Given the description of an element on the screen output the (x, y) to click on. 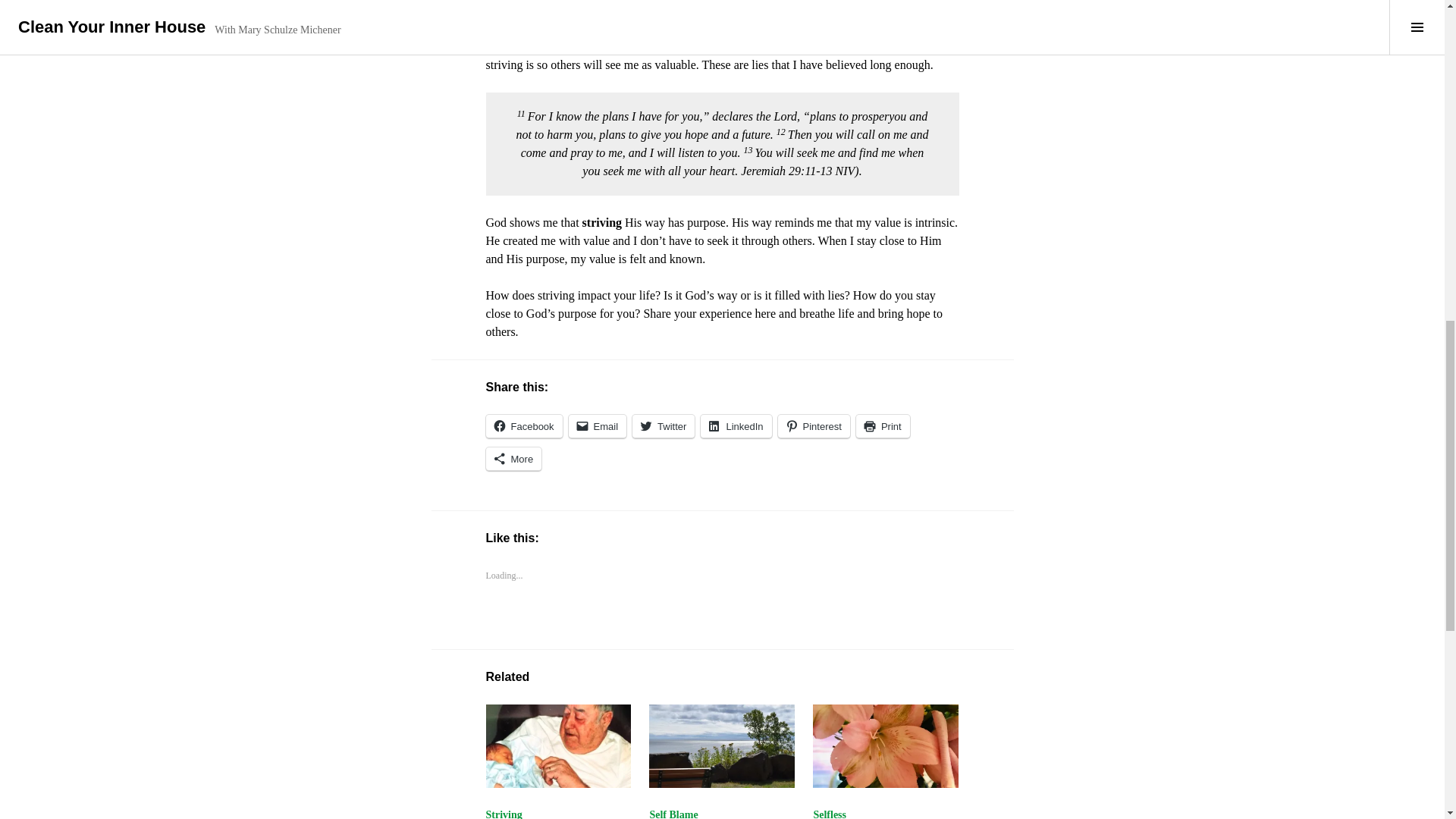
Click to email a link to a friend (598, 426)
Pinterest (813, 426)
More (512, 458)
Striving (557, 745)
Click to share on Facebook (523, 426)
Twitter (662, 426)
Email (598, 426)
Like or Reblog (721, 628)
Click to share on Twitter (662, 426)
Click to share on Pinterest (813, 426)
Striving (502, 814)
Facebook (523, 426)
LinkedIn (735, 426)
Self Blame (673, 814)
Click to share on LinkedIn (735, 426)
